Given the description of an element on the screen output the (x, y) to click on. 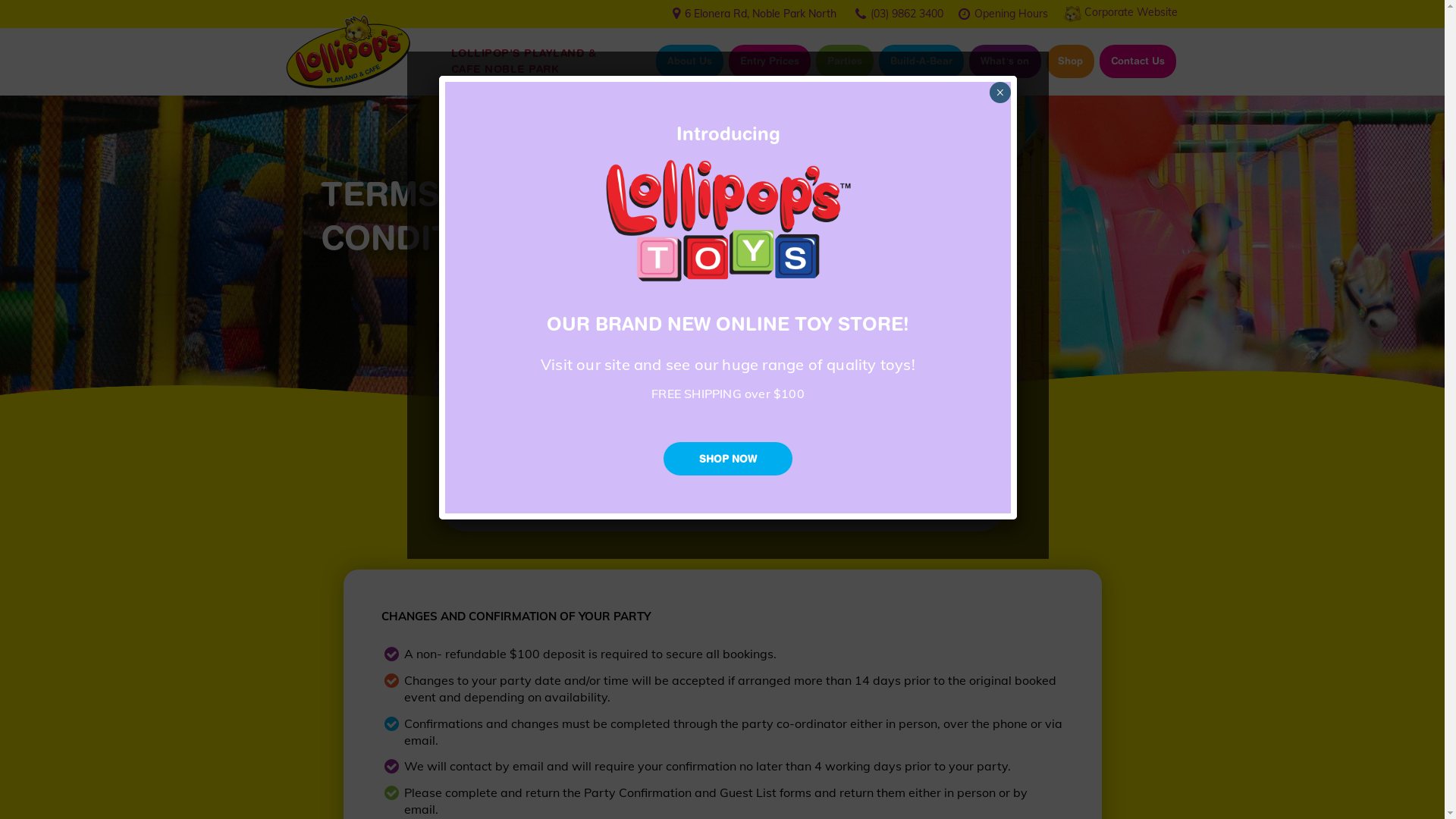
Party Packages Element type: text (519, 501)
Terms and Conditions Element type: text (776, 501)
Contact Us Element type: text (1137, 61)
6 Elonera Rd, Noble Park North Element type: text (759, 13)
Entry Prices Element type: text (769, 61)
Adult Platters Element type: text (640, 501)
Parties Element type: text (844, 61)
Shop Element type: text (1070, 61)
About Us Element type: text (689, 61)
Corporate Website Element type: text (1130, 11)
(03) 9862 3400 Element type: text (906, 12)
Build-A-Bear Element type: text (920, 61)
SHOP NOW Element type: text (727, 458)
Opening Hours Element type: text (1010, 12)
Book Your Party Element type: text (920, 501)
